Given the description of an element on the screen output the (x, y) to click on. 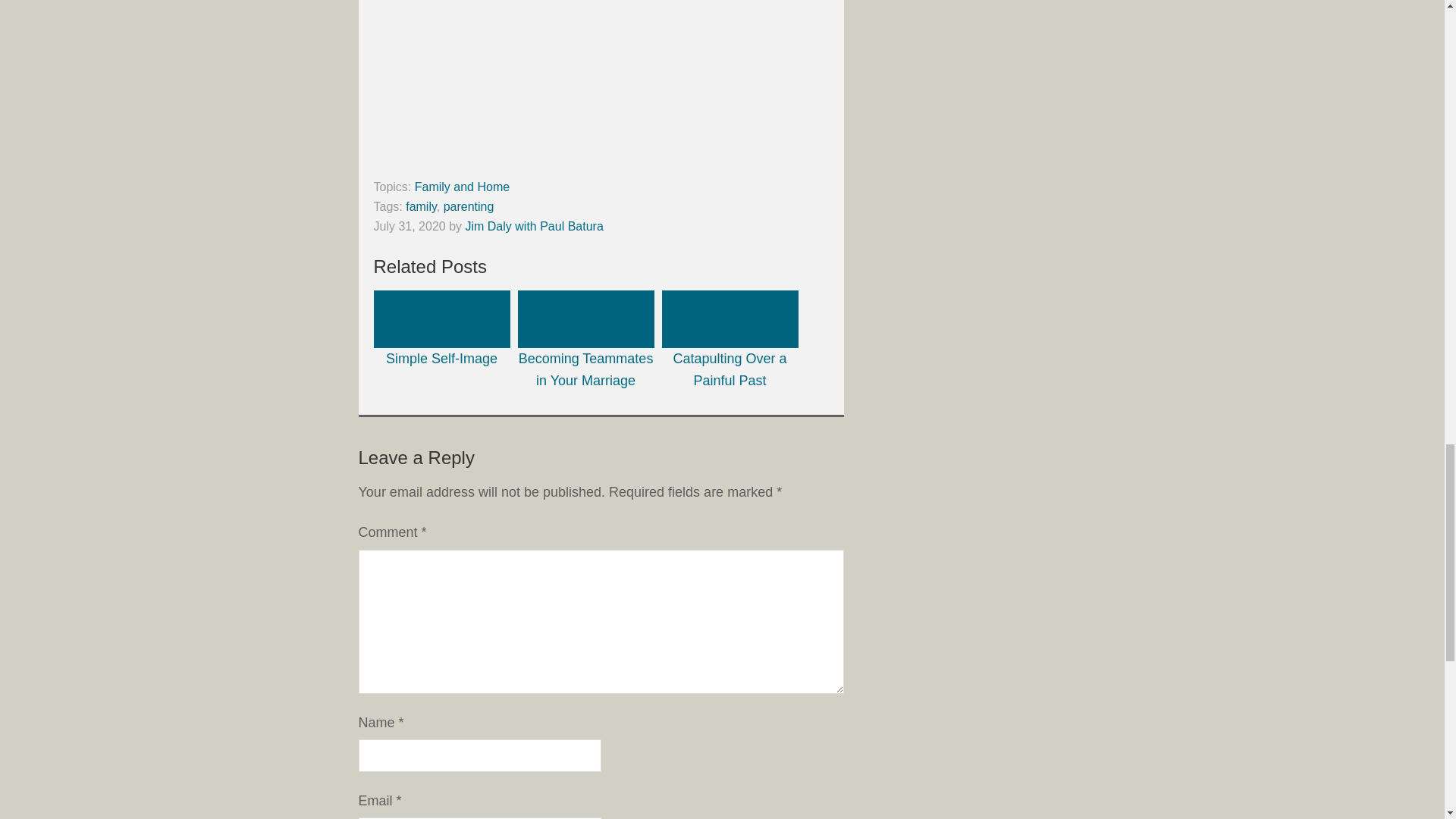
Becoming Teammates in Your Marriage (584, 339)
Jim Daly with Paul Batura (533, 226)
Permanent Link toBecoming Teammates in Your Marriage (584, 339)
Permanent Link toCatapulting Over a Painful Past (729, 339)
Permanent Link toSimple Self-Image (440, 328)
family (421, 205)
Simple Self-Image (440, 328)
parenting (469, 205)
Catapulting Over a Painful Past (729, 339)
Family and Home (461, 186)
